Given the description of an element on the screen output the (x, y) to click on. 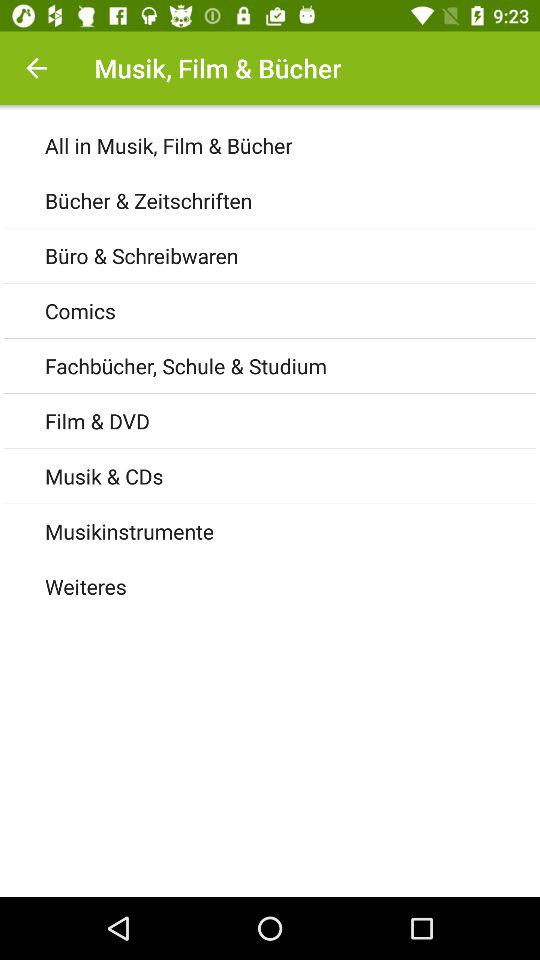
press film & dvd (292, 420)
